Given the description of an element on the screen output the (x, y) to click on. 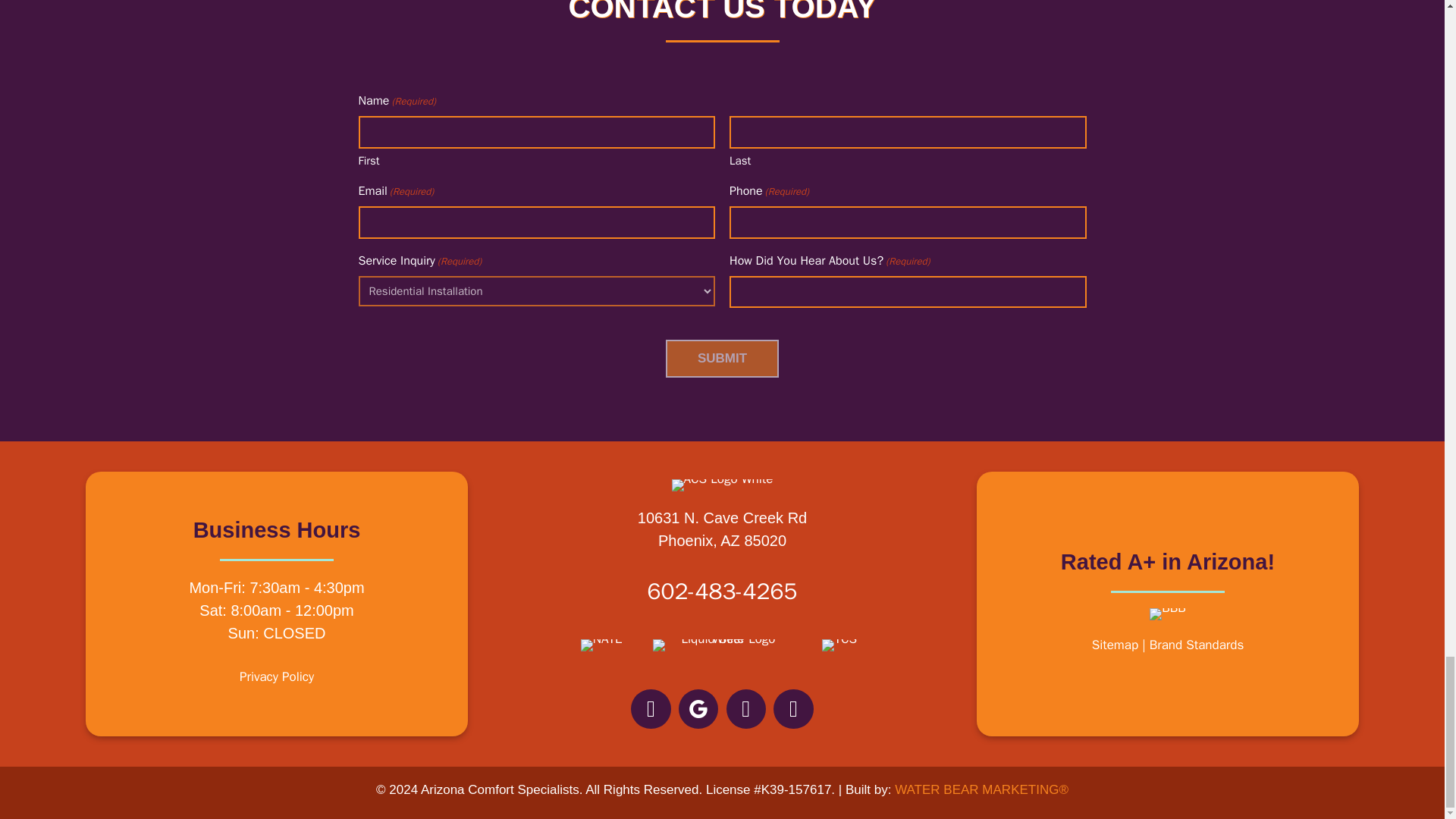
Submit (721, 358)
